Given the description of an element on the screen output the (x, y) to click on. 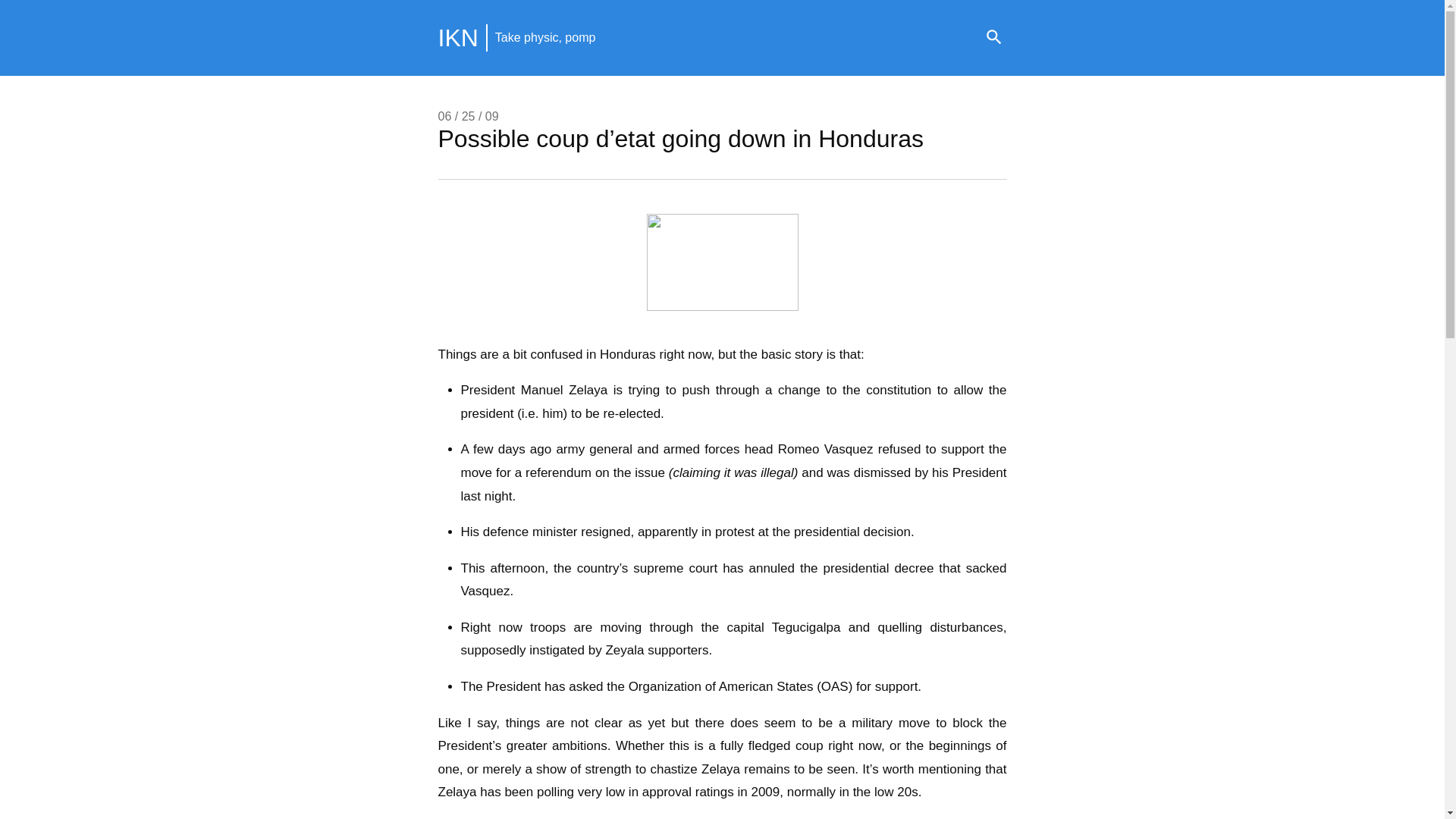
Search (993, 37)
IKN (458, 37)
